Given the description of an element on the screen output the (x, y) to click on. 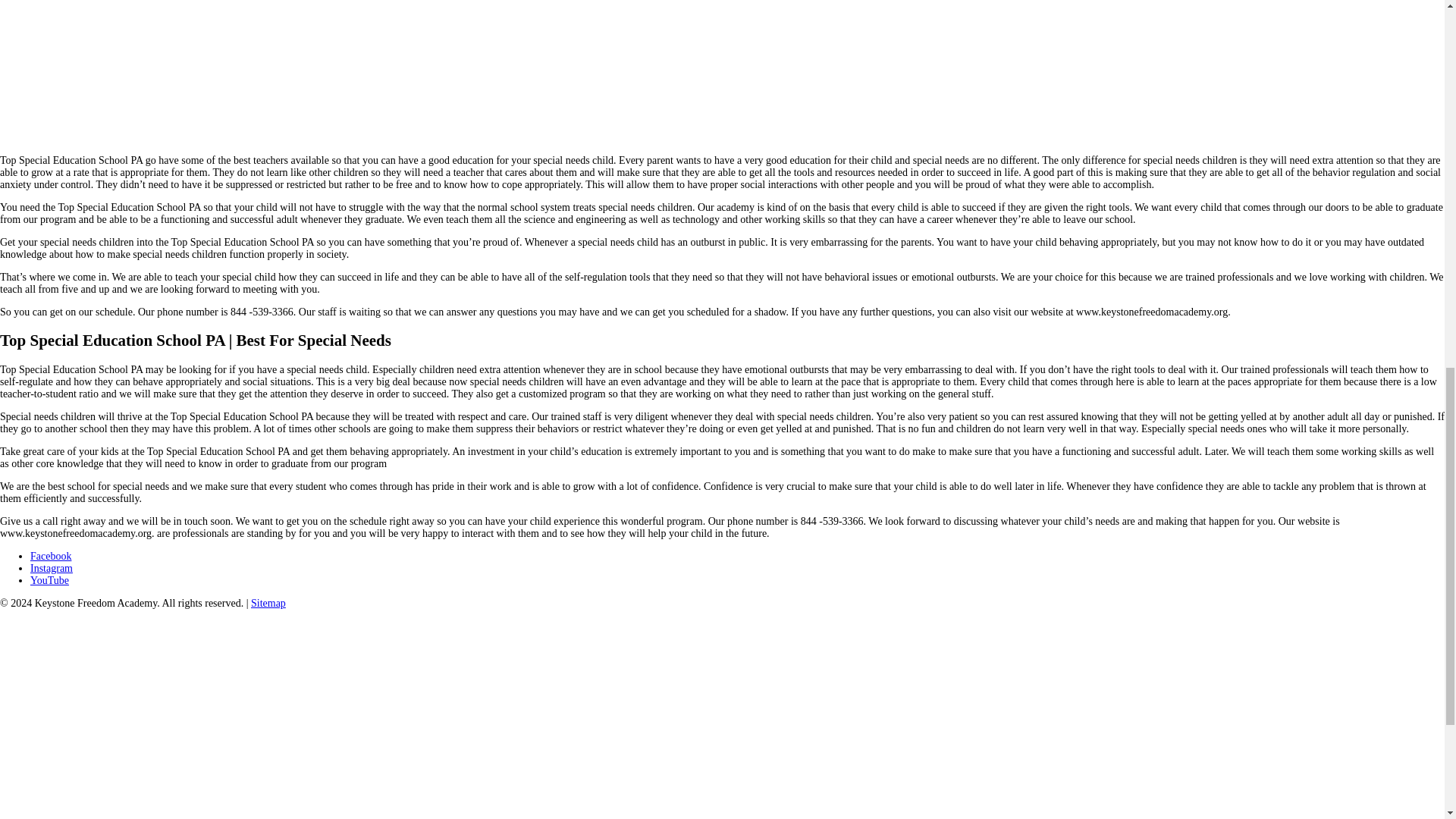
Sitemap (267, 603)
Instagram (51, 568)
YouTube (49, 580)
Facebook (50, 555)
